Given the description of an element on the screen output the (x, y) to click on. 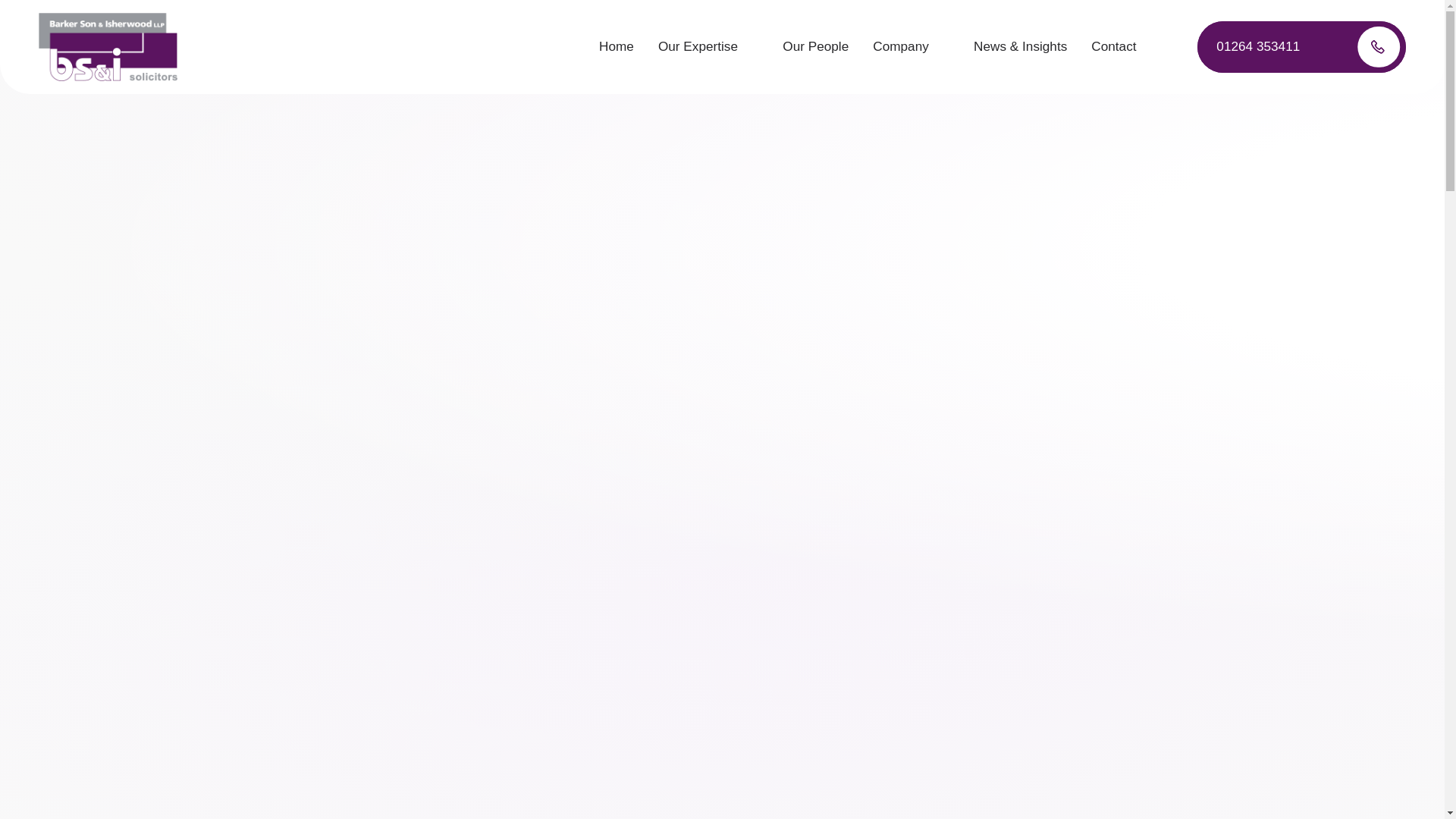
Our Expertise (708, 47)
Home (615, 47)
